Given the description of an element on the screen output the (x, y) to click on. 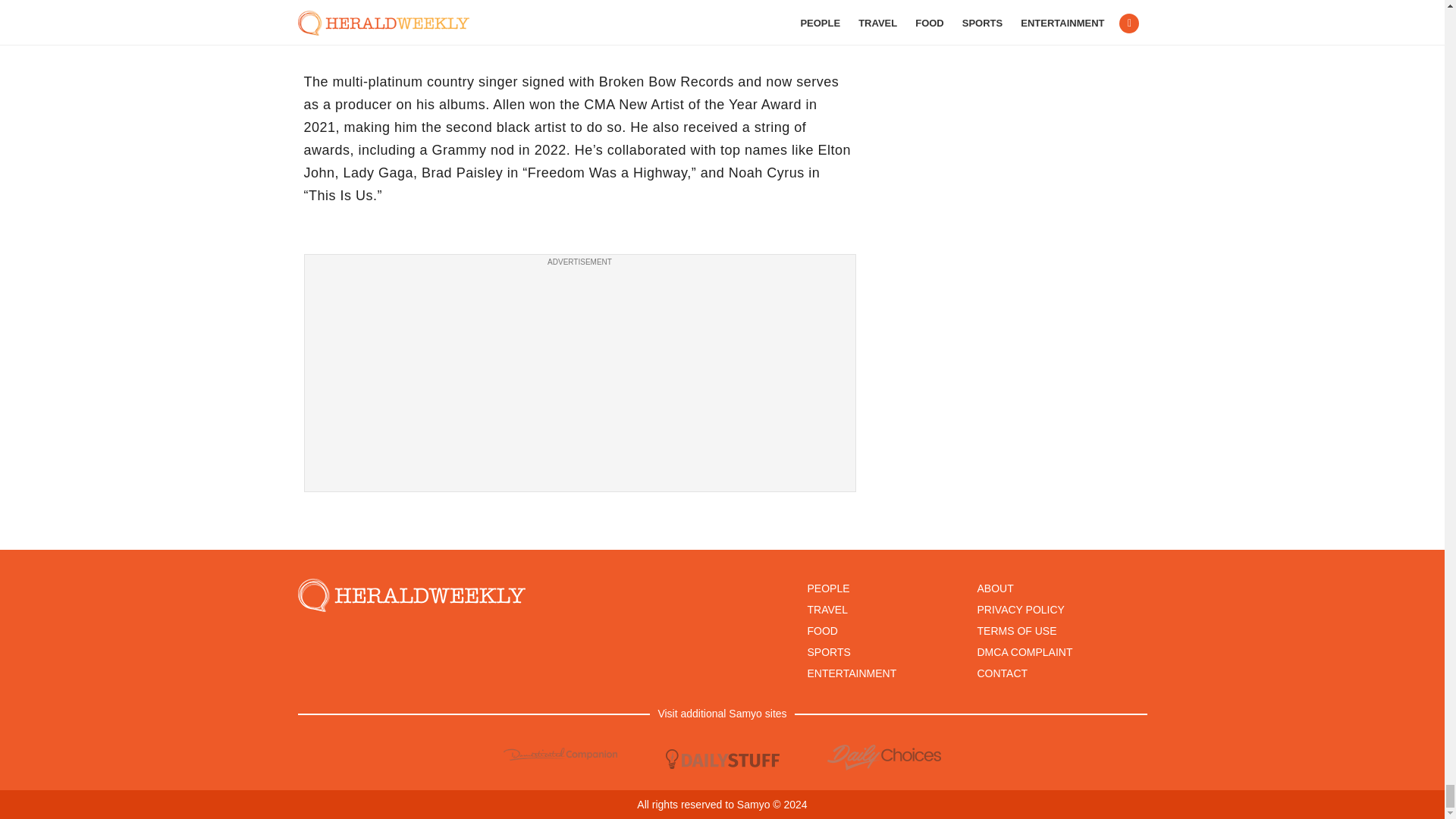
FOOD (821, 630)
SPORTS (828, 652)
ABOUT (994, 588)
TRAVEL (826, 609)
PRIVACY POLICY (1020, 609)
CONTACT (1001, 673)
ENTERTAINMENT (851, 673)
DMCA COMPLAINT (1023, 652)
TERMS OF USE (1016, 630)
PEOPLE (827, 588)
